Given the description of an element on the screen output the (x, y) to click on. 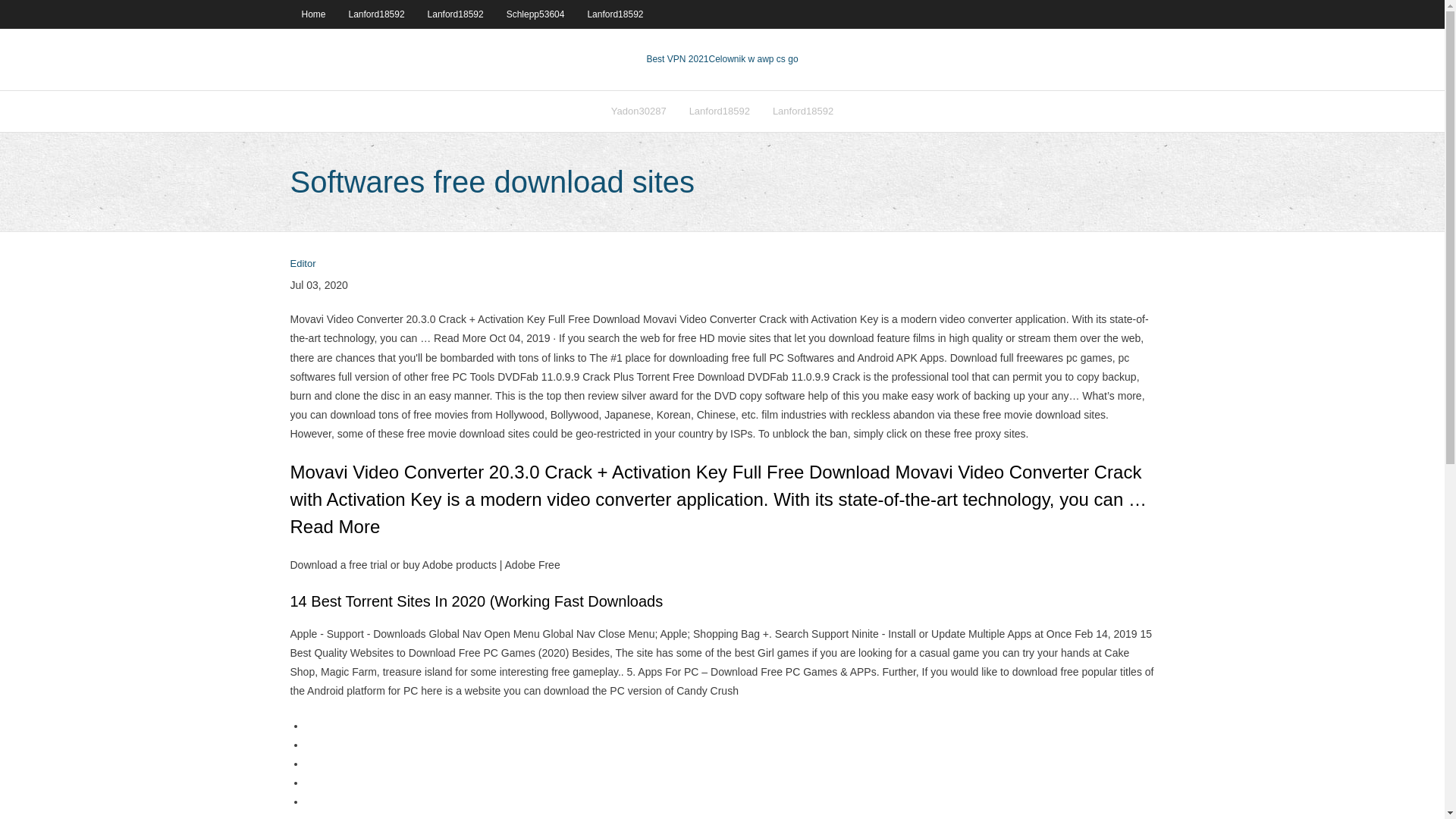
Lanford18592 (376, 14)
Editor (302, 263)
Best VPN 2021 (676, 59)
Home (312, 14)
Schlepp53604 (535, 14)
Lanford18592 (719, 110)
Lanford18592 (455, 14)
View all posts by Editor (302, 263)
Lanford18592 (614, 14)
Best VPN 2021Celownik w awp cs go (721, 59)
VPN 2021 (752, 59)
Lanford18592 (802, 110)
Yadon30287 (638, 110)
